Given the description of an element on the screen output the (x, y) to click on. 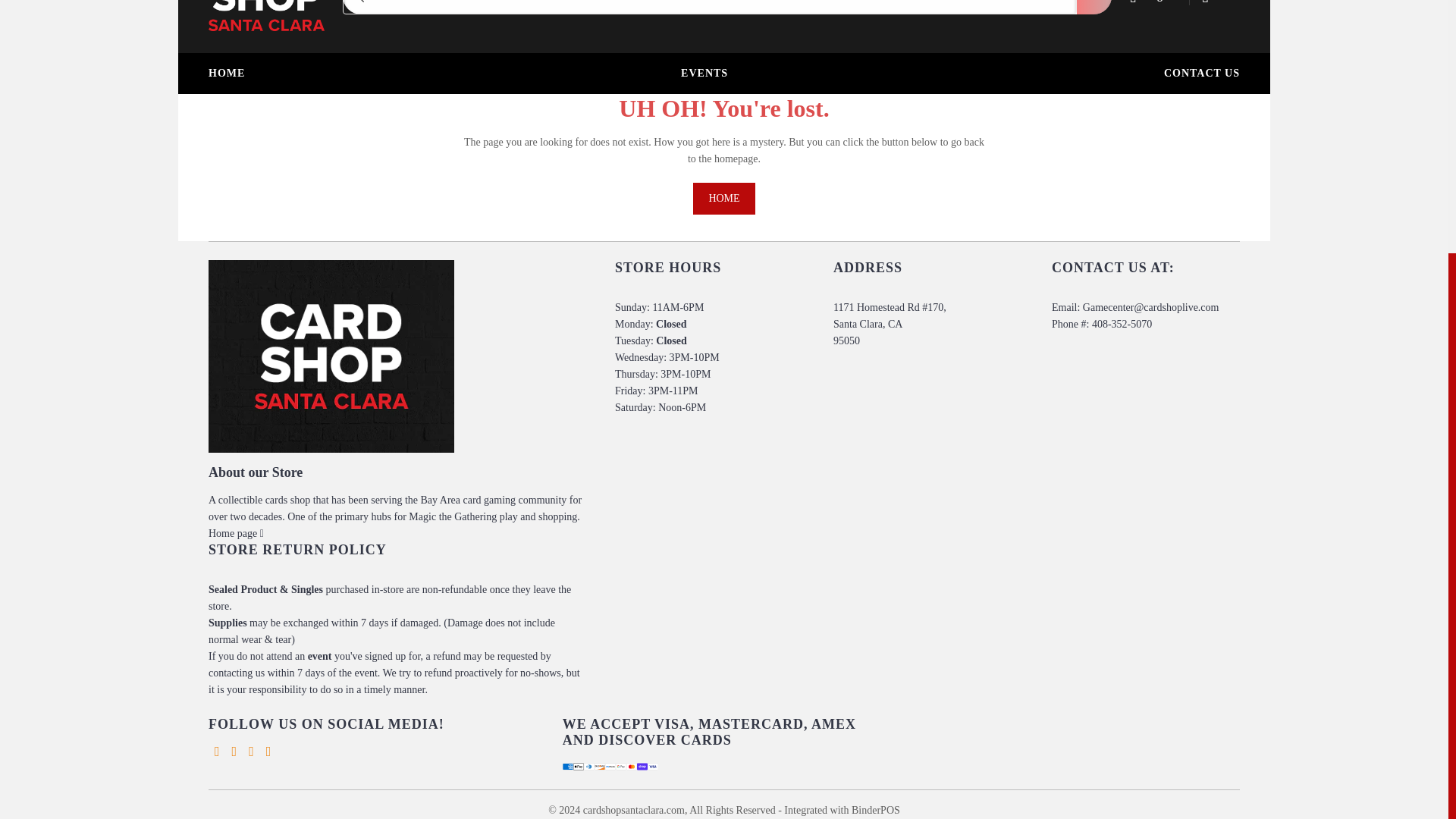
Home page (235, 532)
American Express (567, 766)
HOME (723, 198)
Apple Pay (578, 766)
Discover (599, 766)
Visa (652, 766)
BinderPOS (875, 809)
Meta Pay (610, 766)
Diners Club (588, 766)
Mastercard (631, 766)
